Given the description of an element on the screen output the (x, y) to click on. 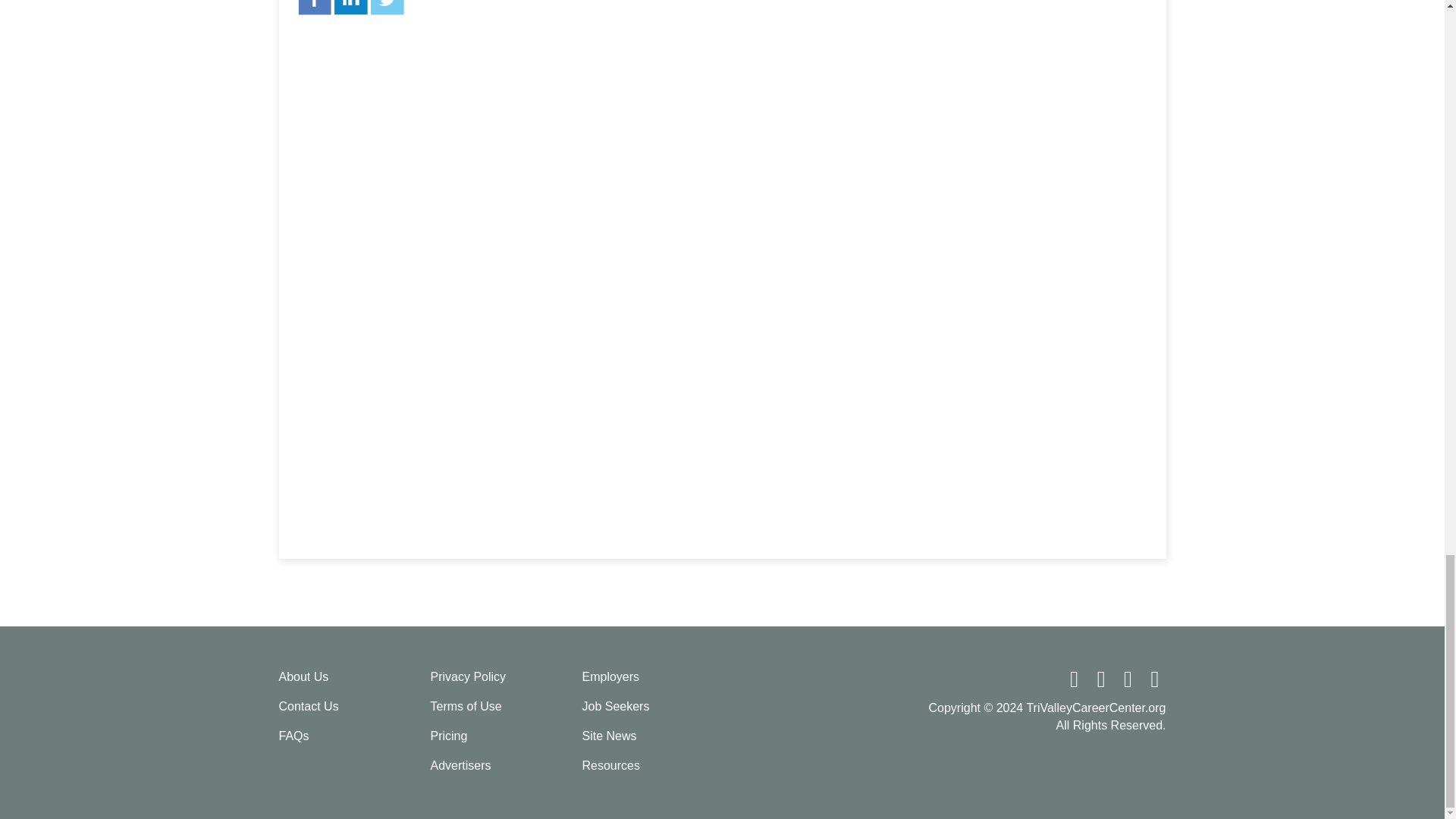
Follow Us on You Tube (1154, 682)
Follow Us on Linked In (1129, 682)
LinkedIn (351, 7)
Facebook (313, 7)
Follow Us on Twitter (1102, 682)
Follow Us on Facebook (1075, 682)
Facebook (313, 2)
Twitter (387, 7)
LinkedIn (351, 2)
Twitter (387, 2)
